Given the description of an element on the screen output the (x, y) to click on. 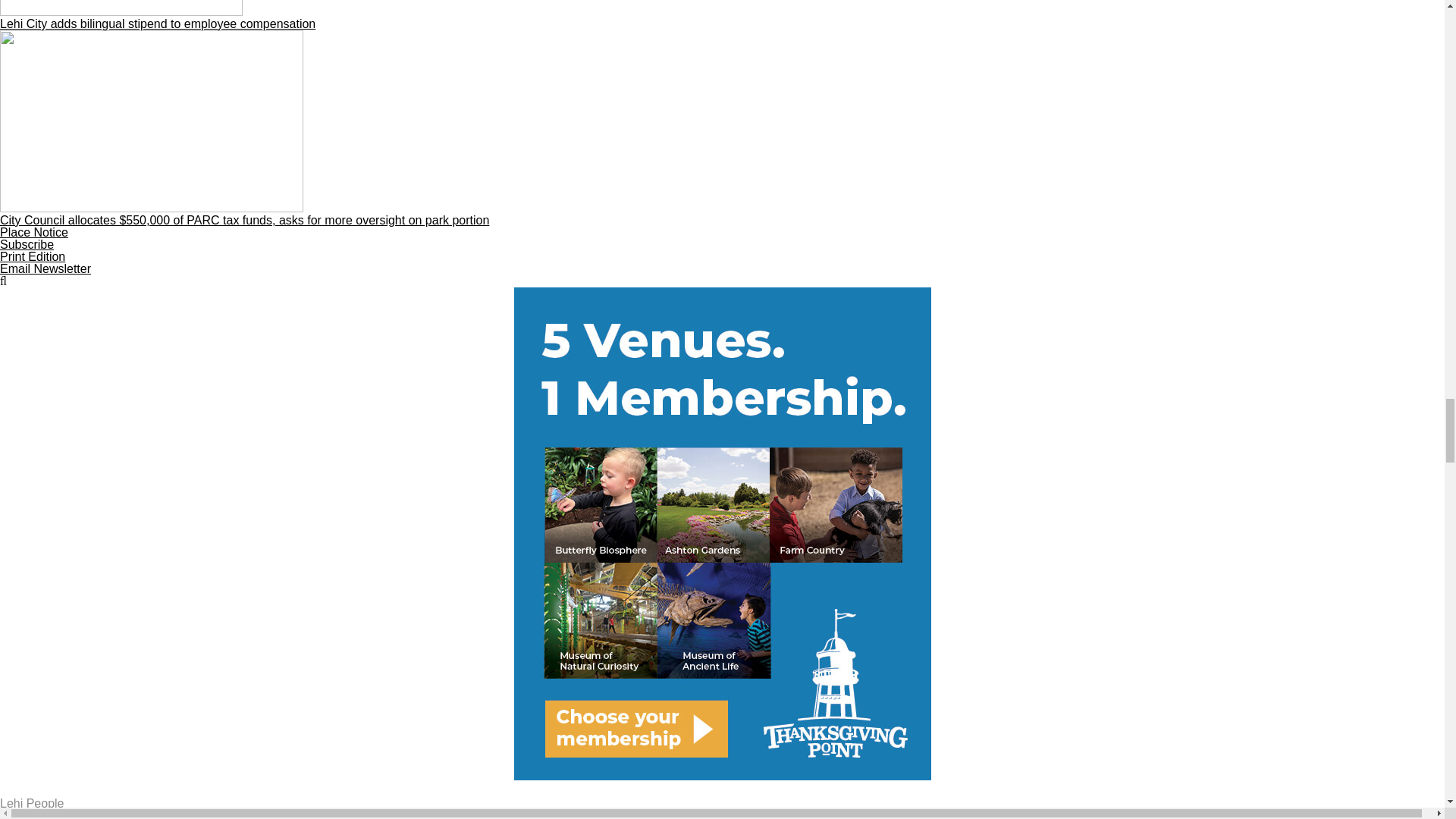
Lehi City adds bilingual stipend to employee compensation (722, 15)
